Given the description of an element on the screen output the (x, y) to click on. 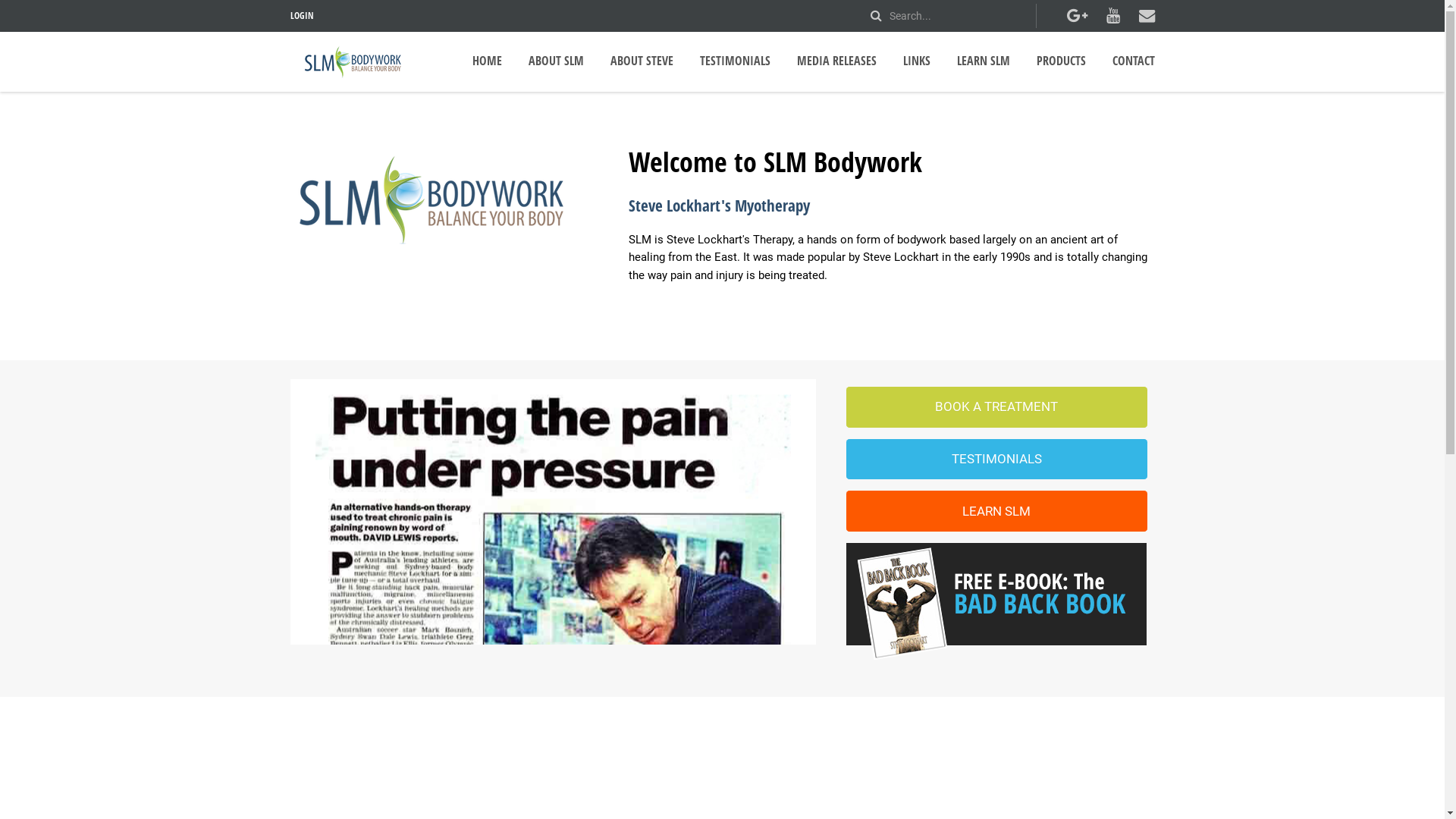
HOME Element type: text (486, 60)
TESTIMONIALS Element type: text (734, 60)
MEDIA RELEASES Element type: text (835, 60)
ABOUT STEVE Element type: text (640, 60)
TESTIMONIALS Element type: text (996, 459)
LOGIN Element type: text (301, 15)
BOOK A TREATMENT Element type: text (996, 406)
CONTACT Element type: text (1132, 60)
LEARN SLM Element type: text (996, 510)
LINKS Element type: text (915, 60)
PRODUCTS Element type: text (1060, 60)
LEARN SLM Element type: text (983, 60)
ABOUT SLM Element type: text (555, 60)
